Given the description of an element on the screen output the (x, y) to click on. 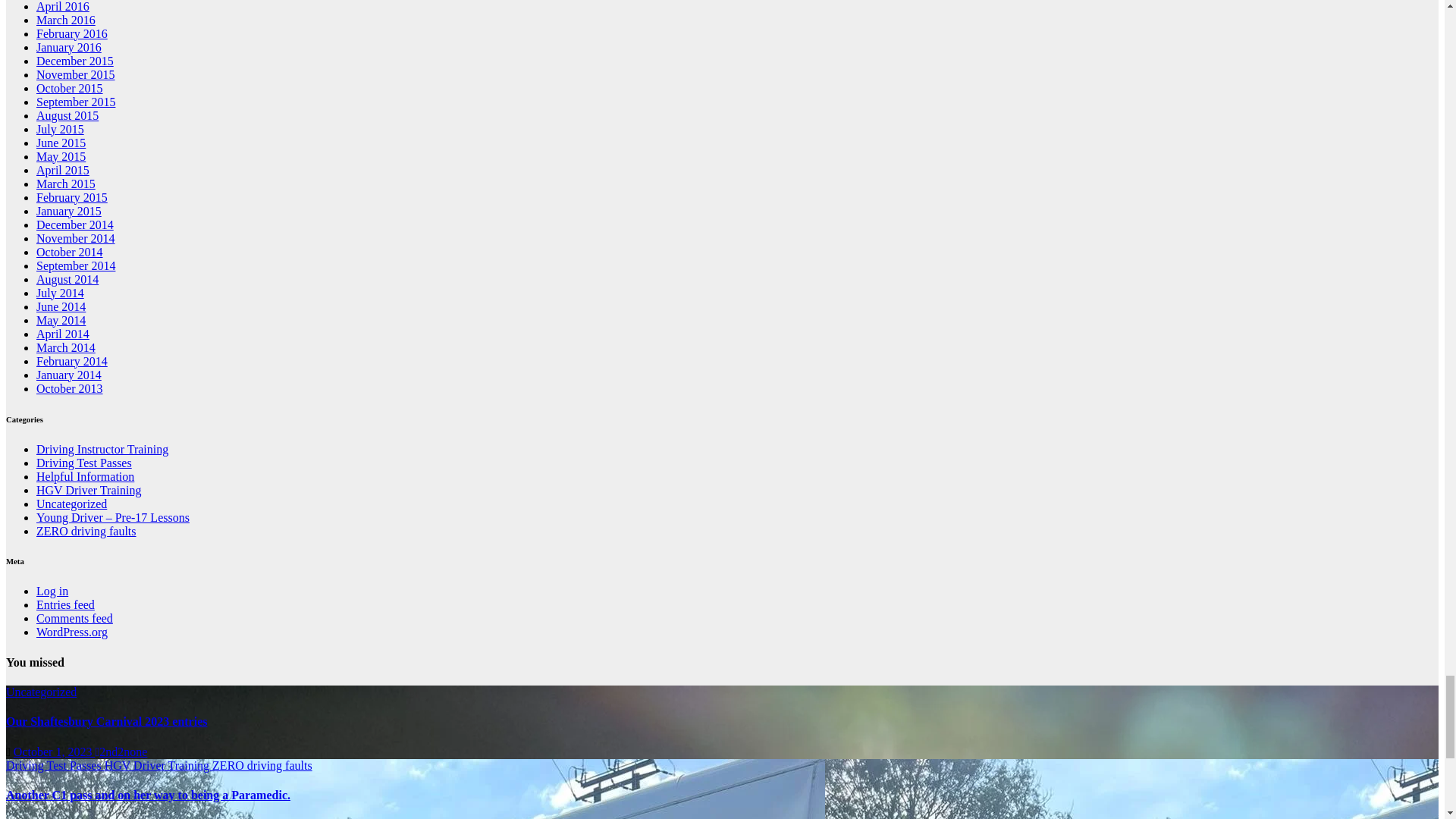
Permalink to: Our Shaftesbury Carnival 2023 entries (105, 721)
